Given the description of an element on the screen output the (x, y) to click on. 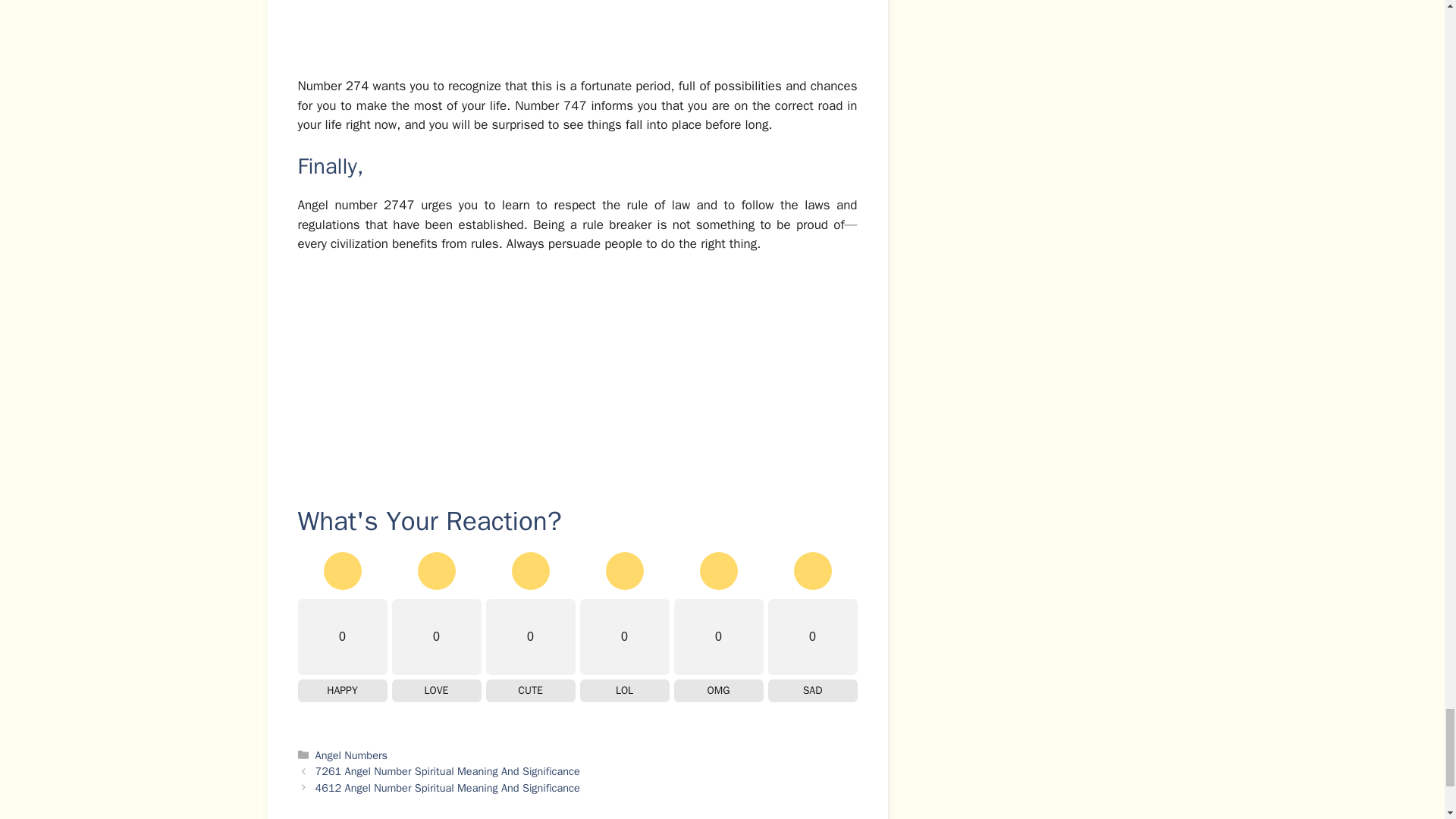
Angel Numbers (351, 755)
4612 Angel Number Spiritual Meaning And Significance (447, 787)
7261 Angel Number Spiritual Meaning And Significance (447, 771)
